Given the description of an element on the screen output the (x, y) to click on. 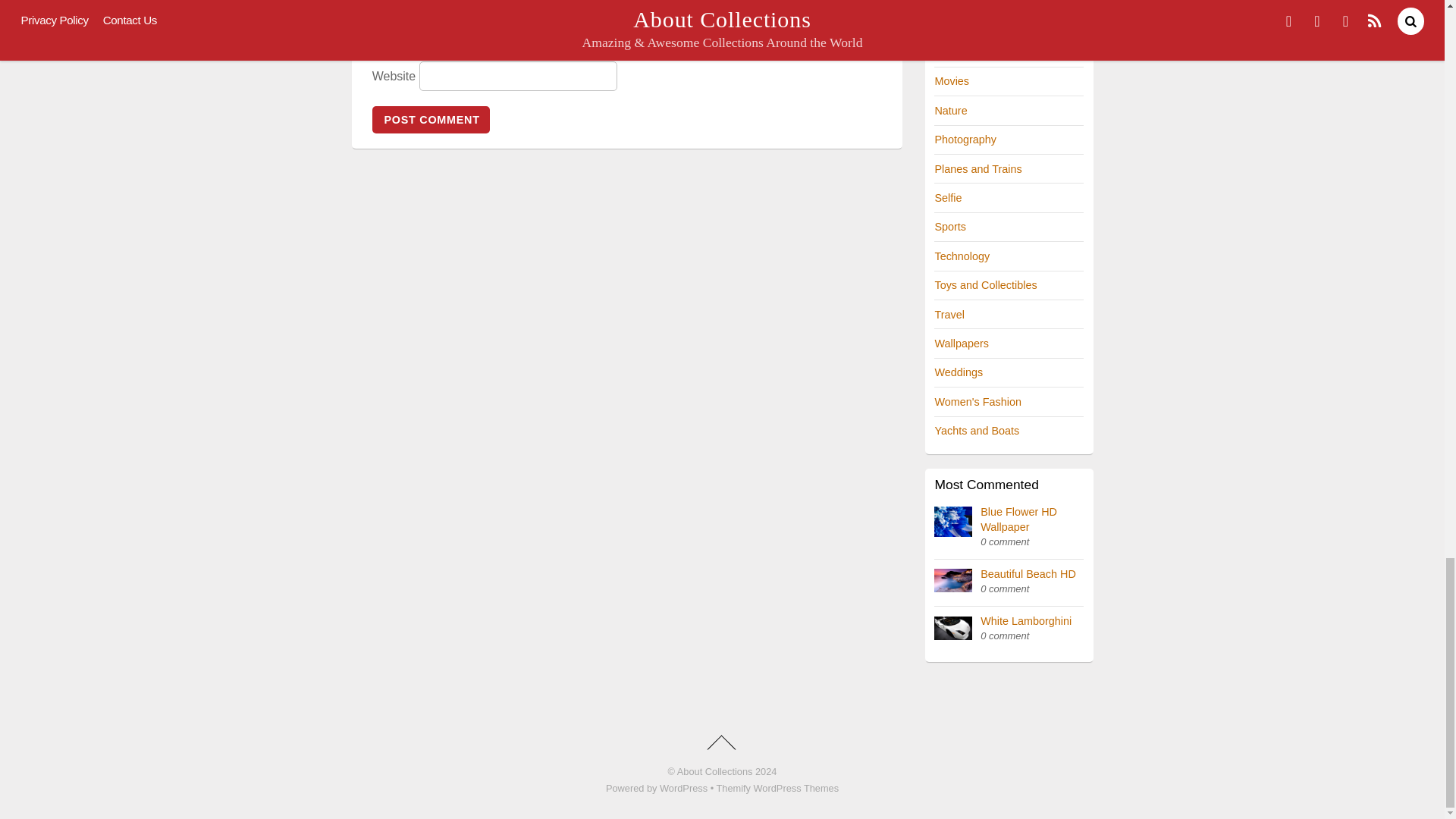
Misc (945, 51)
Men's Fashion (969, 23)
Post Comment (431, 119)
Post Comment (431, 119)
